Given the description of an element on the screen output the (x, y) to click on. 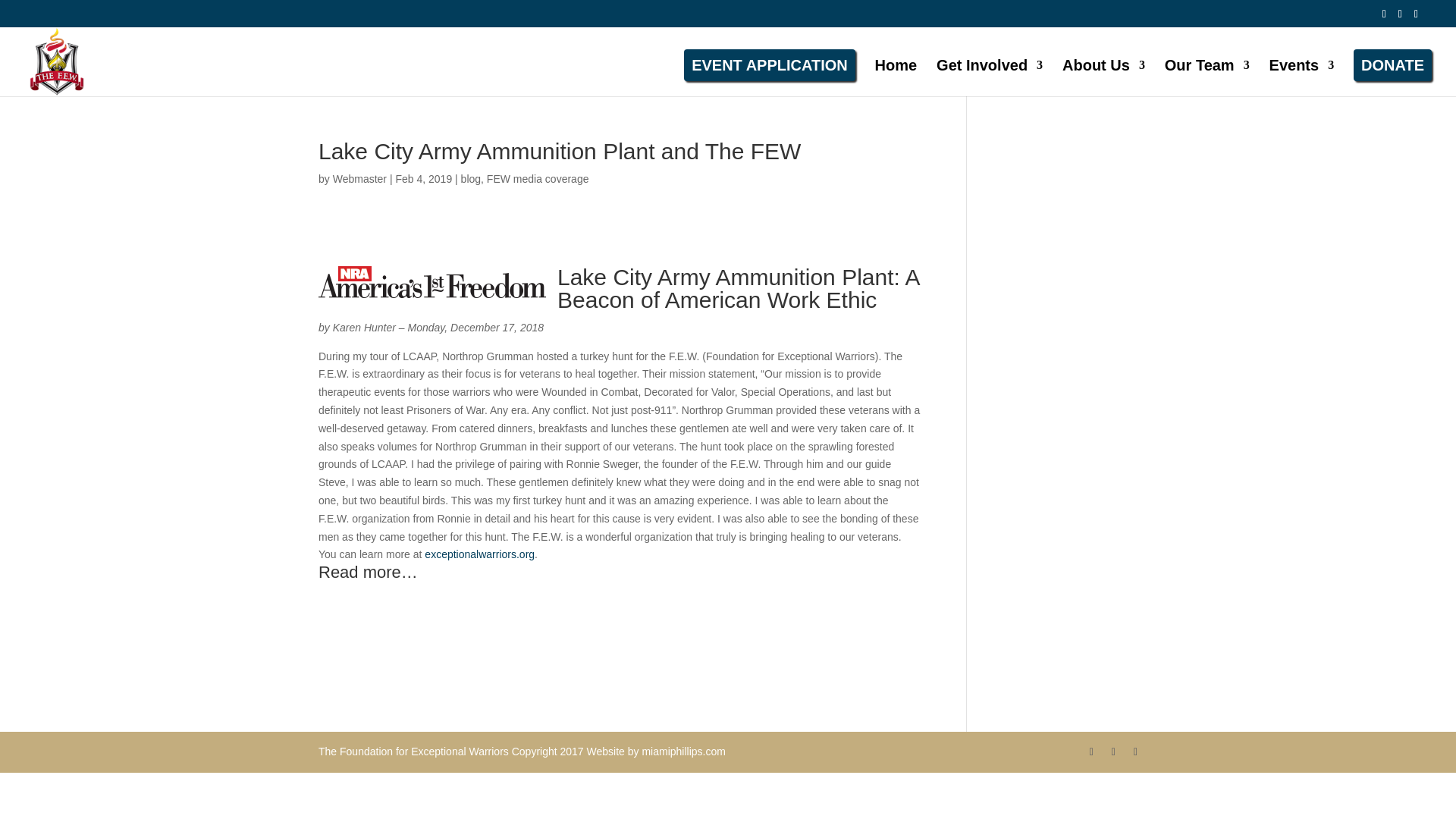
Events (1302, 71)
Our Team (1206, 71)
FEW media coverage (537, 166)
About Us (1103, 71)
Home (896, 71)
EVENT APPLICATION (770, 60)
Webmaster (360, 166)
DONATE (1392, 60)
Posts by Webmaster (360, 166)
exceptionalwarriors.org (479, 541)
Get Involved (989, 71)
blog (470, 166)
